Given the description of an element on the screen output the (x, y) to click on. 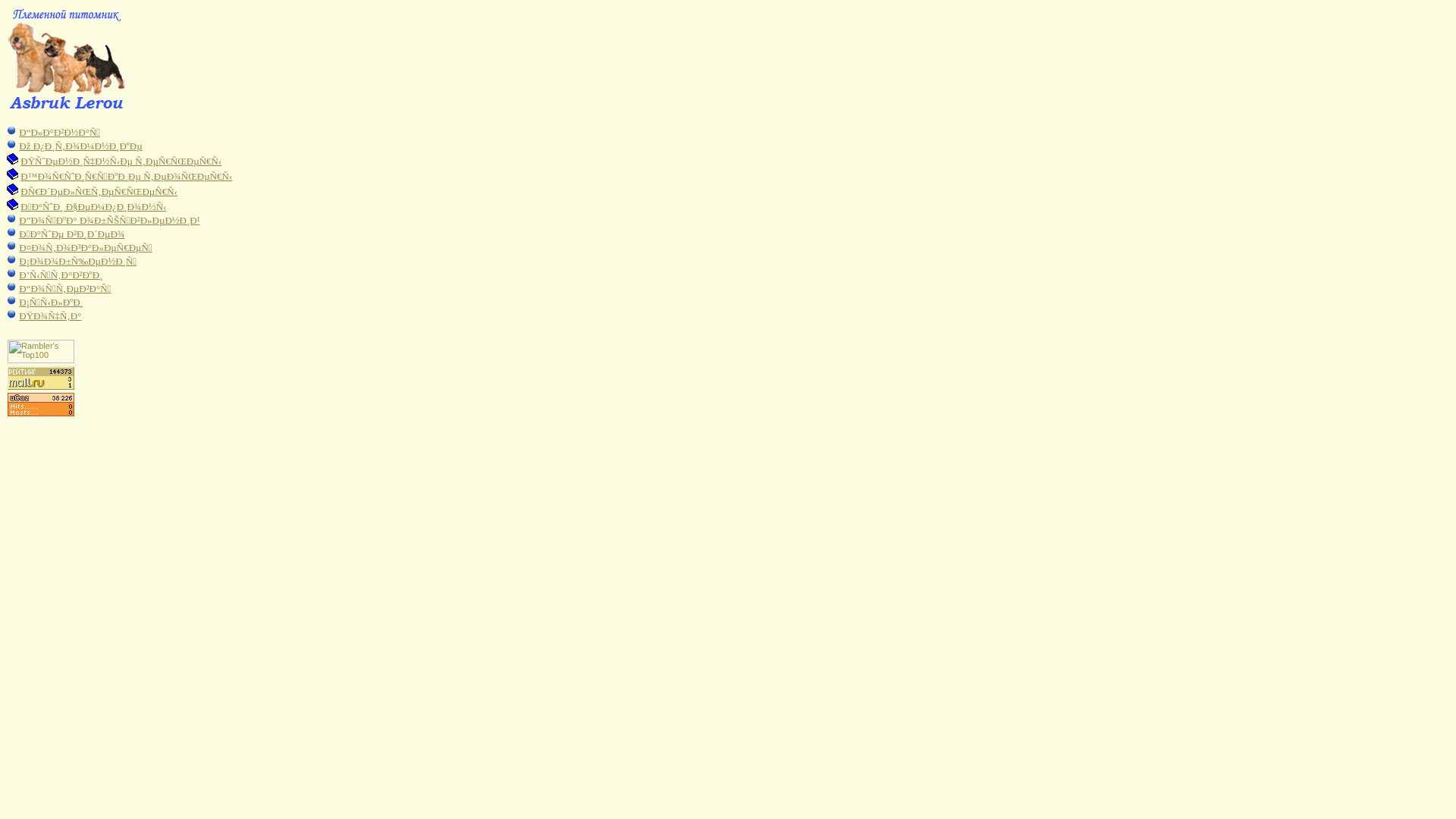
UcoZ Counter Element type: hover (40, 412)
